Given the description of an element on the screen output the (x, y) to click on. 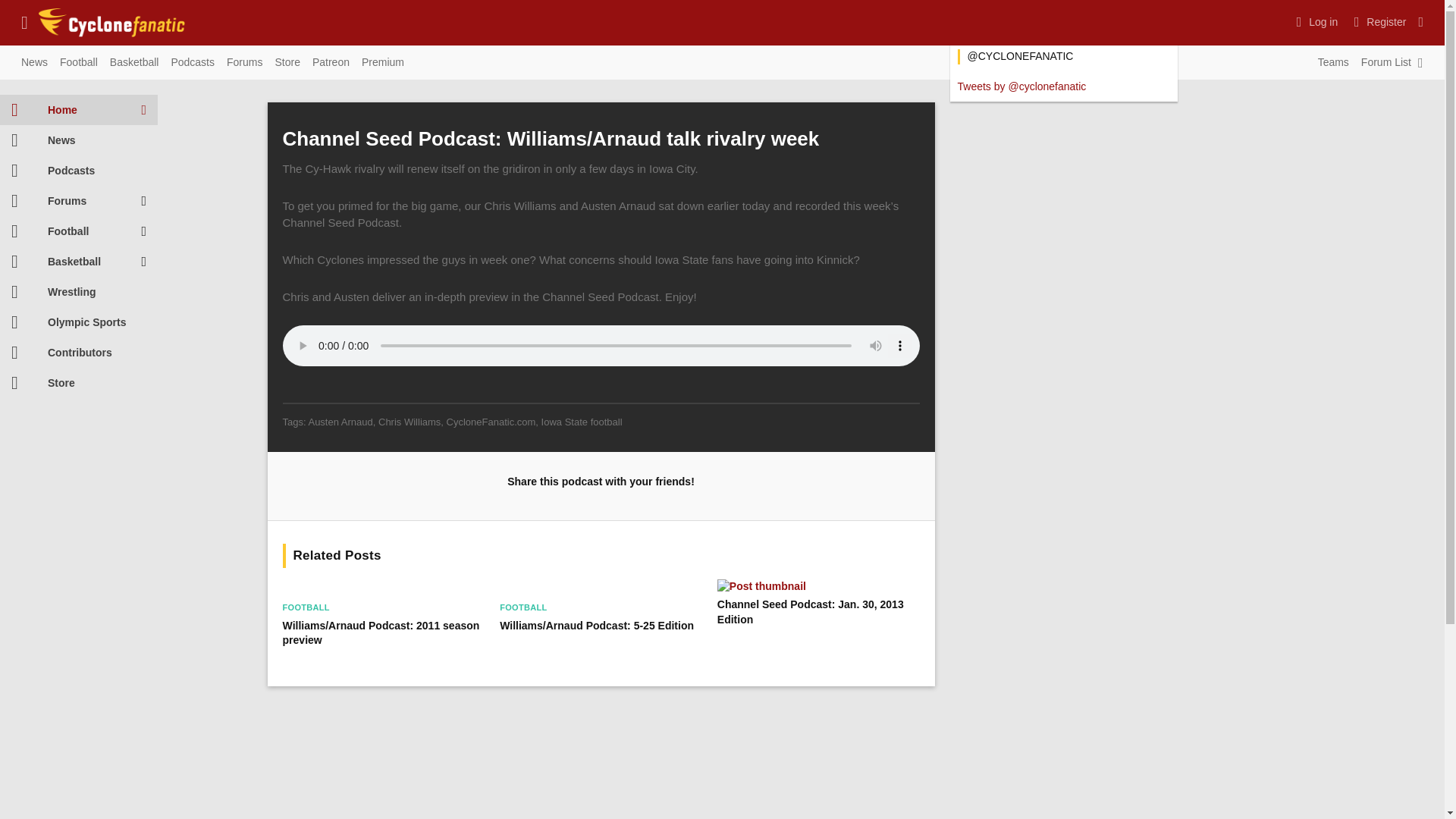
Football (78, 63)
News (33, 63)
Premium (382, 63)
Forum List (1385, 63)
Forums (244, 63)
Register (1377, 21)
Log in (1314, 21)
Basketball (134, 63)
Teams (1333, 63)
